Given the description of an element on the screen output the (x, y) to click on. 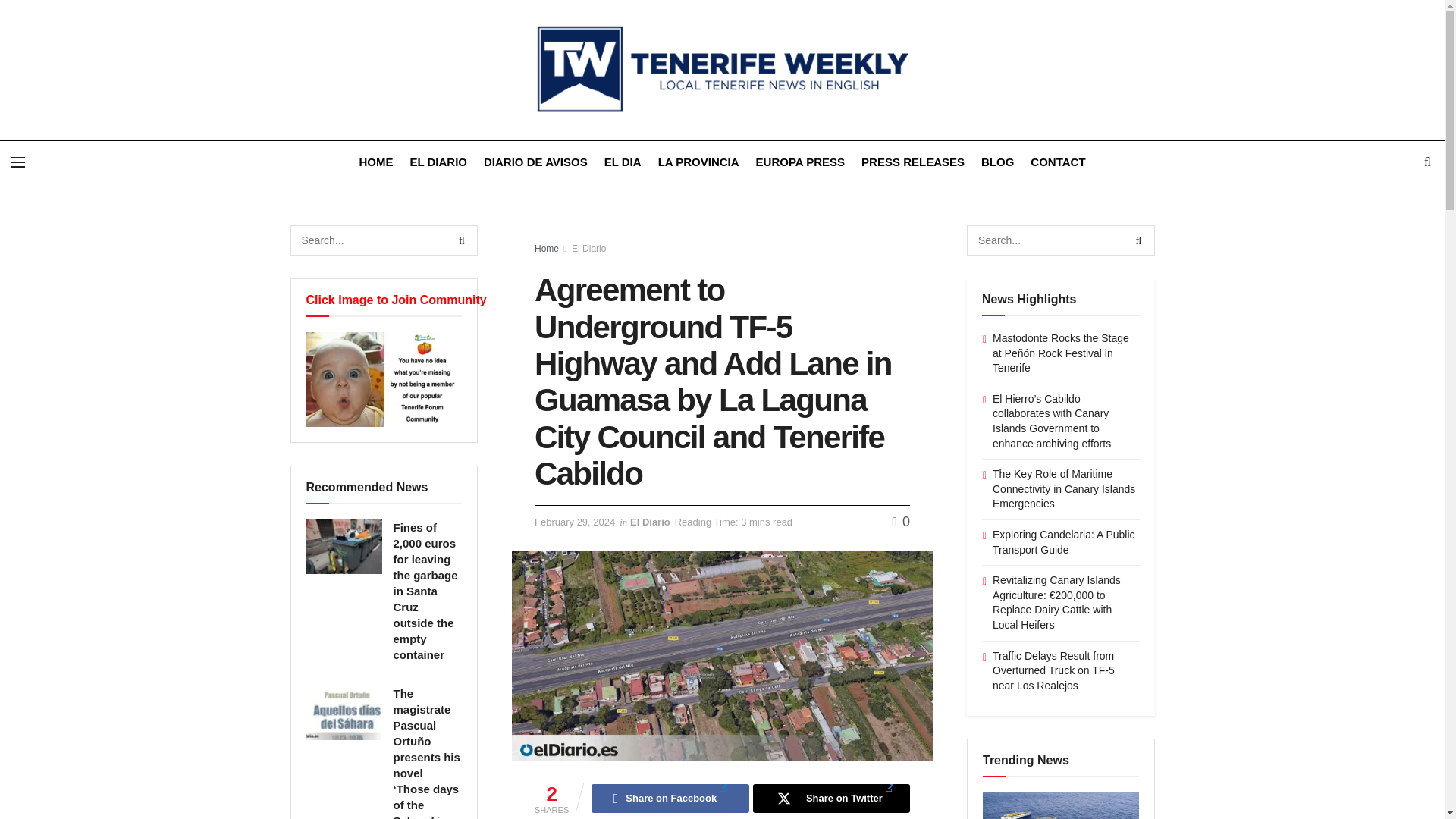
EL DIARIO (438, 161)
DIARIO DE AVISOS (535, 161)
EL DIA (623, 161)
CONTACT (1057, 161)
PRESS RELEASES (912, 161)
HOME (375, 161)
El Diario (649, 521)
February 29, 2024 (574, 521)
0 (900, 521)
Share on Twitter (831, 798)
